Given the description of an element on the screen output the (x, y) to click on. 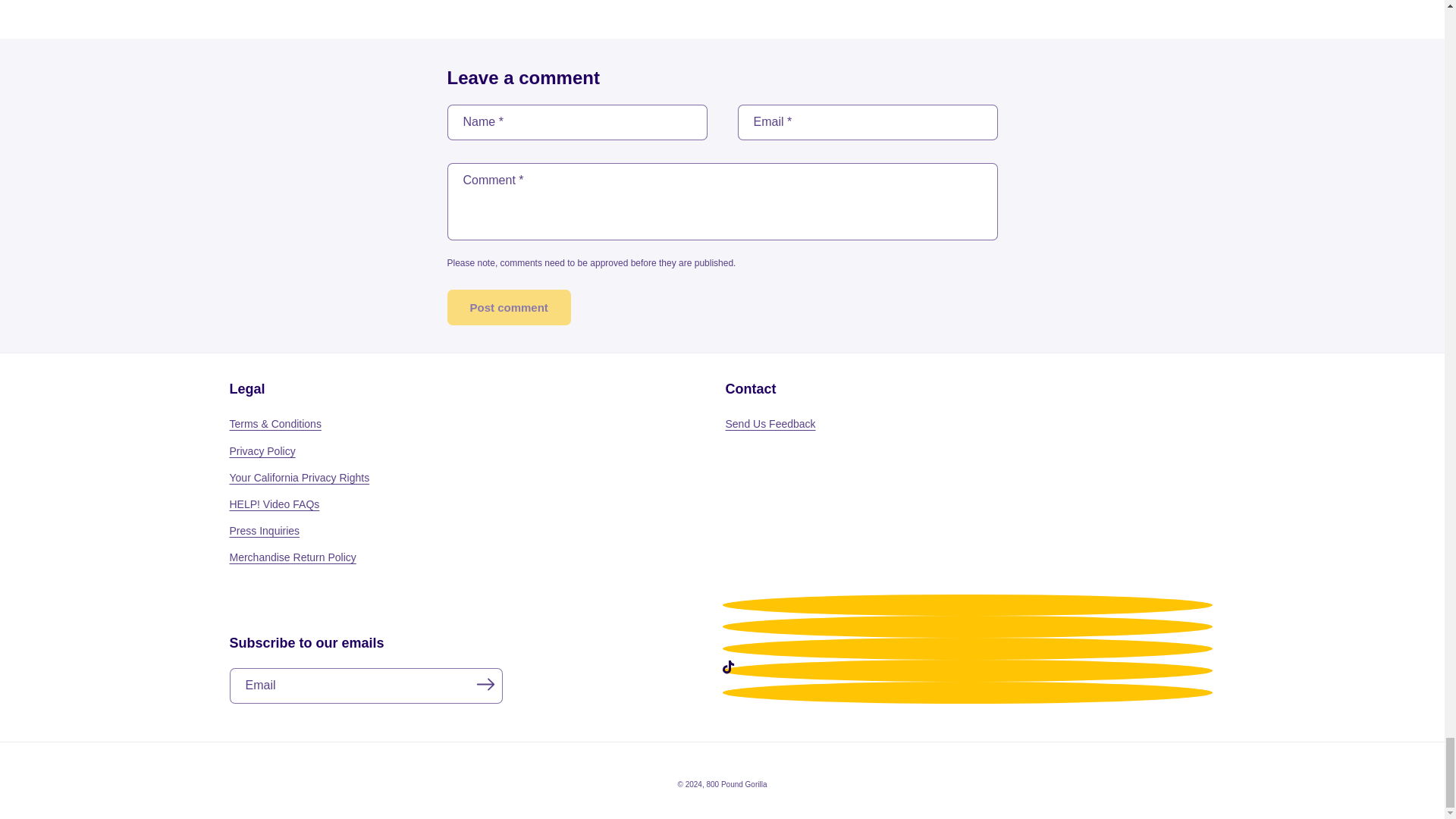
Post comment (508, 307)
